Given the description of an element on the screen output the (x, y) to click on. 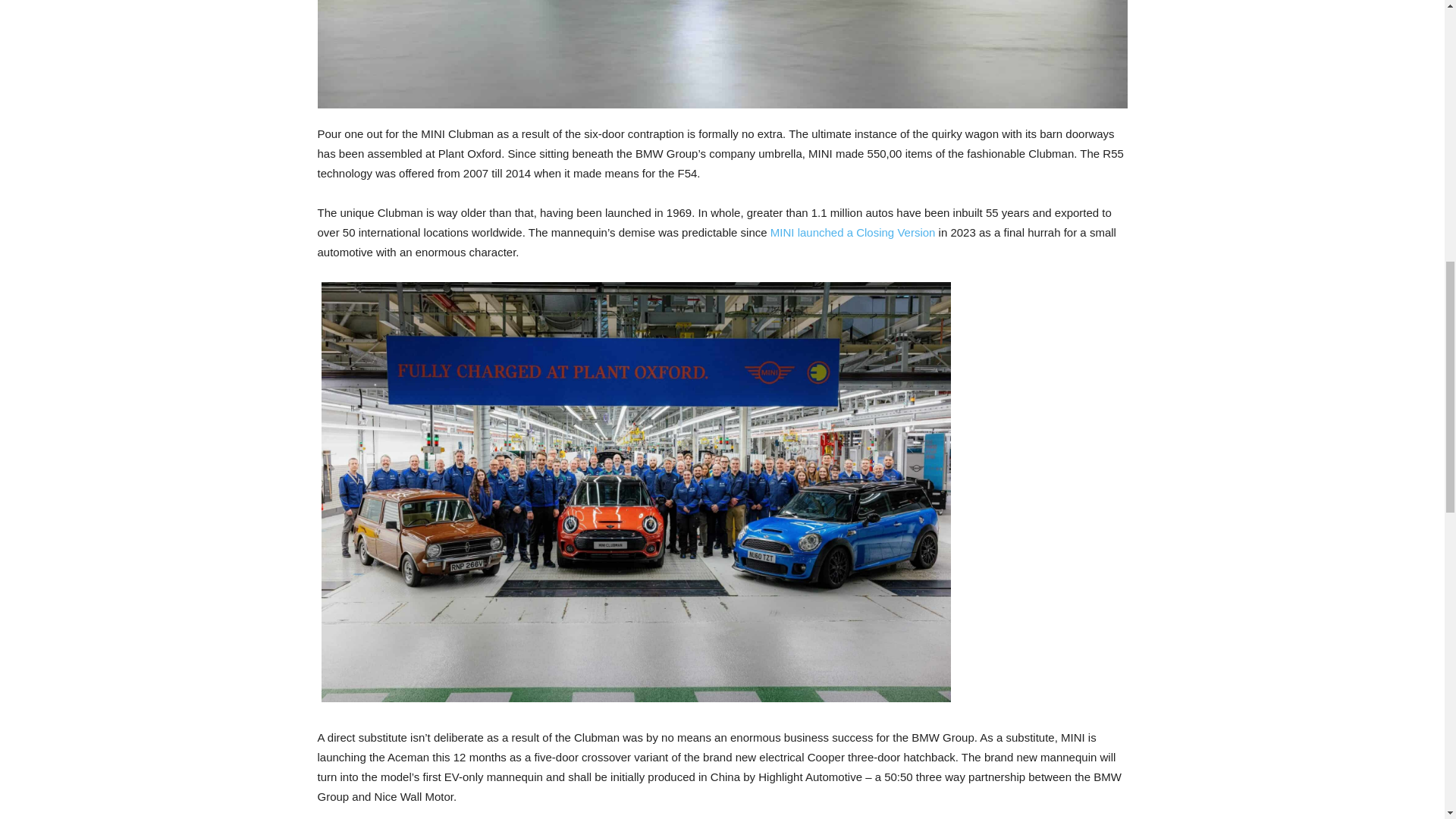
MINI launched a Closing Version (853, 232)
